Given the description of an element on the screen output the (x, y) to click on. 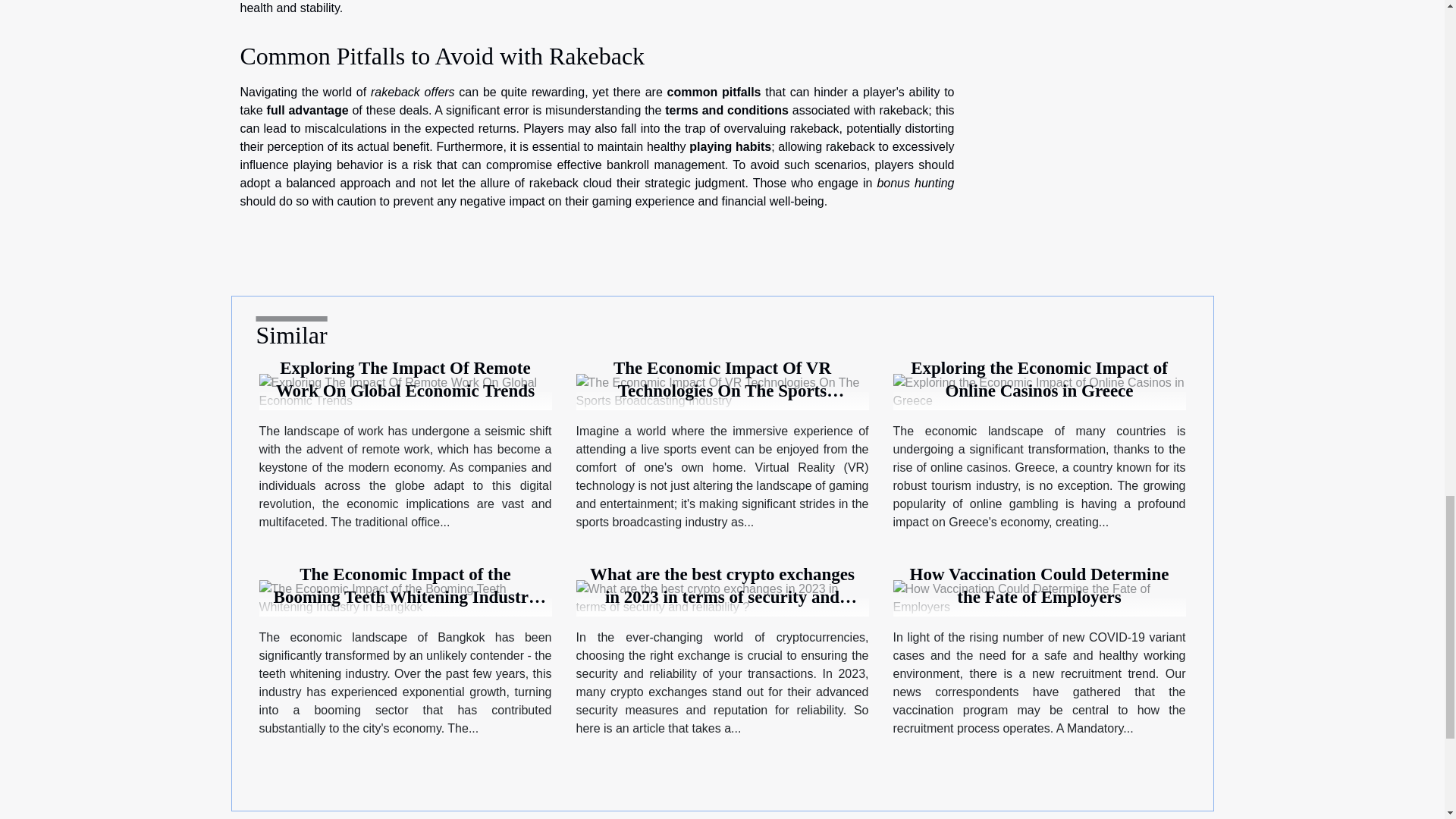
Exploring the Economic Impact of Online Casinos in Greece (1039, 379)
Exploring the Economic Impact of Online Casinos in Greece (1039, 379)
Exploring the Economic Impact of Online Casinos in Greece (1039, 390)
